Given the description of an element on the screen output the (x, y) to click on. 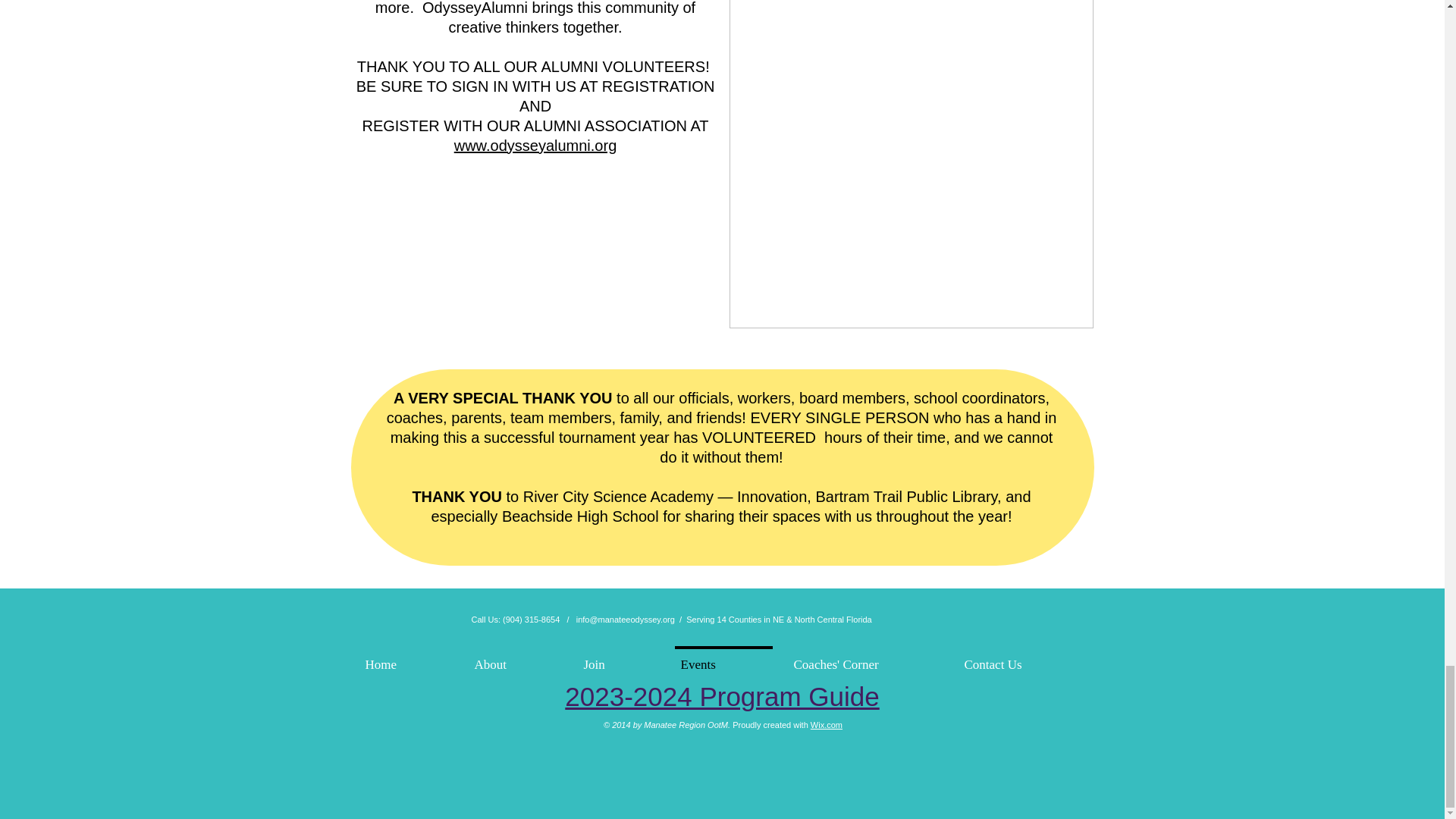
About (515, 658)
24 board.png (911, 164)
Join (618, 658)
Events (723, 658)
www.odysseyalumni.org (535, 145)
Home (406, 658)
